Given the description of an element on the screen output the (x, y) to click on. 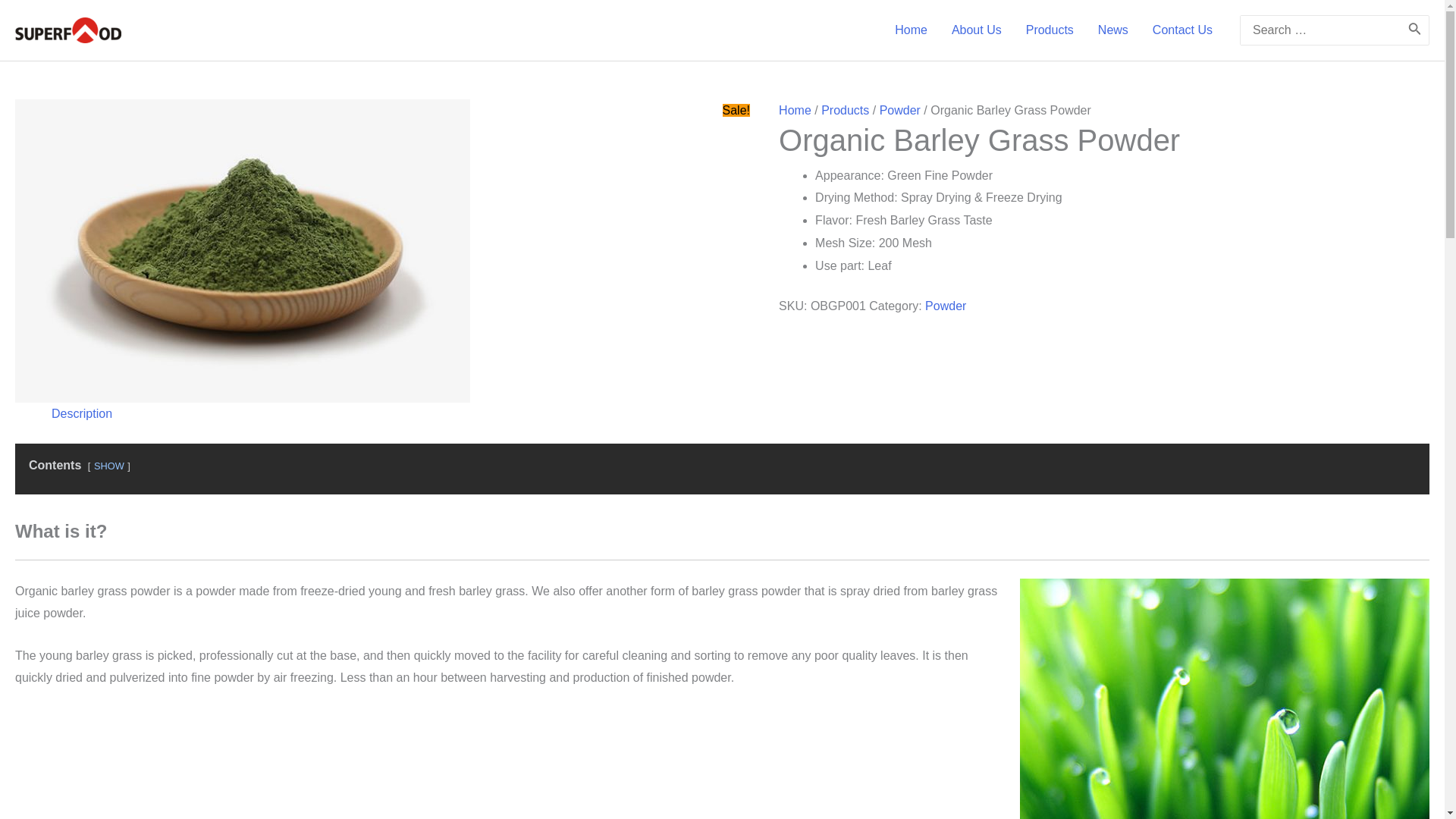
News (1113, 30)
Description (81, 413)
SHOW (108, 465)
Organic Barley Grass Powder 1 (1224, 698)
Contact Us (1182, 30)
Powder (899, 110)
About Us (976, 30)
Products (845, 110)
Home (910, 30)
Powder (945, 305)
Products (1049, 30)
Home (794, 110)
